Given the description of an element on the screen output the (x, y) to click on. 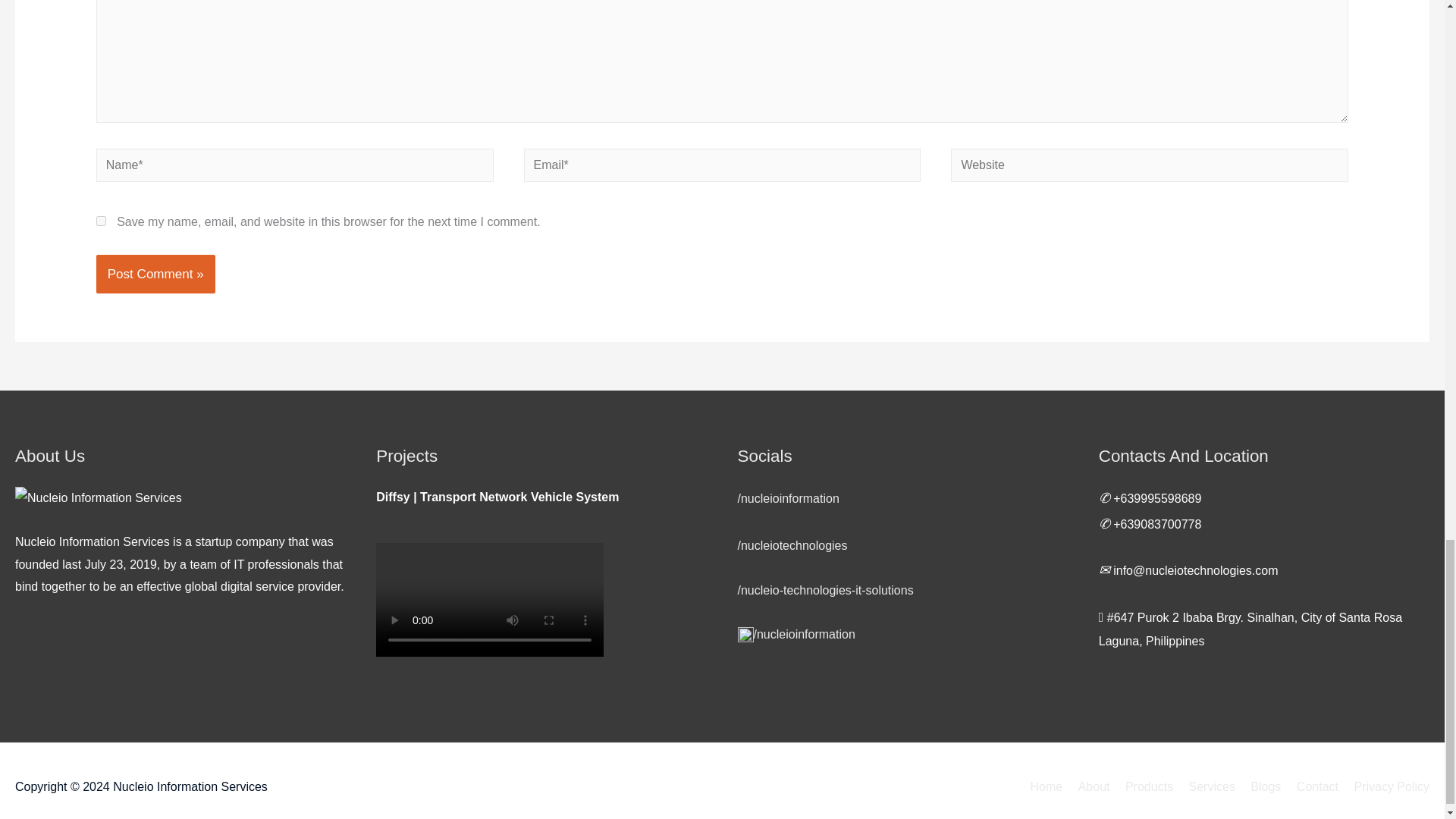
Products (1143, 786)
Privacy Policy (1384, 786)
Home (1046, 786)
Contact (1311, 786)
Blogs (1260, 786)
Services (1205, 786)
yes (101, 221)
About (1087, 786)
